Given the description of an element on the screen output the (x, y) to click on. 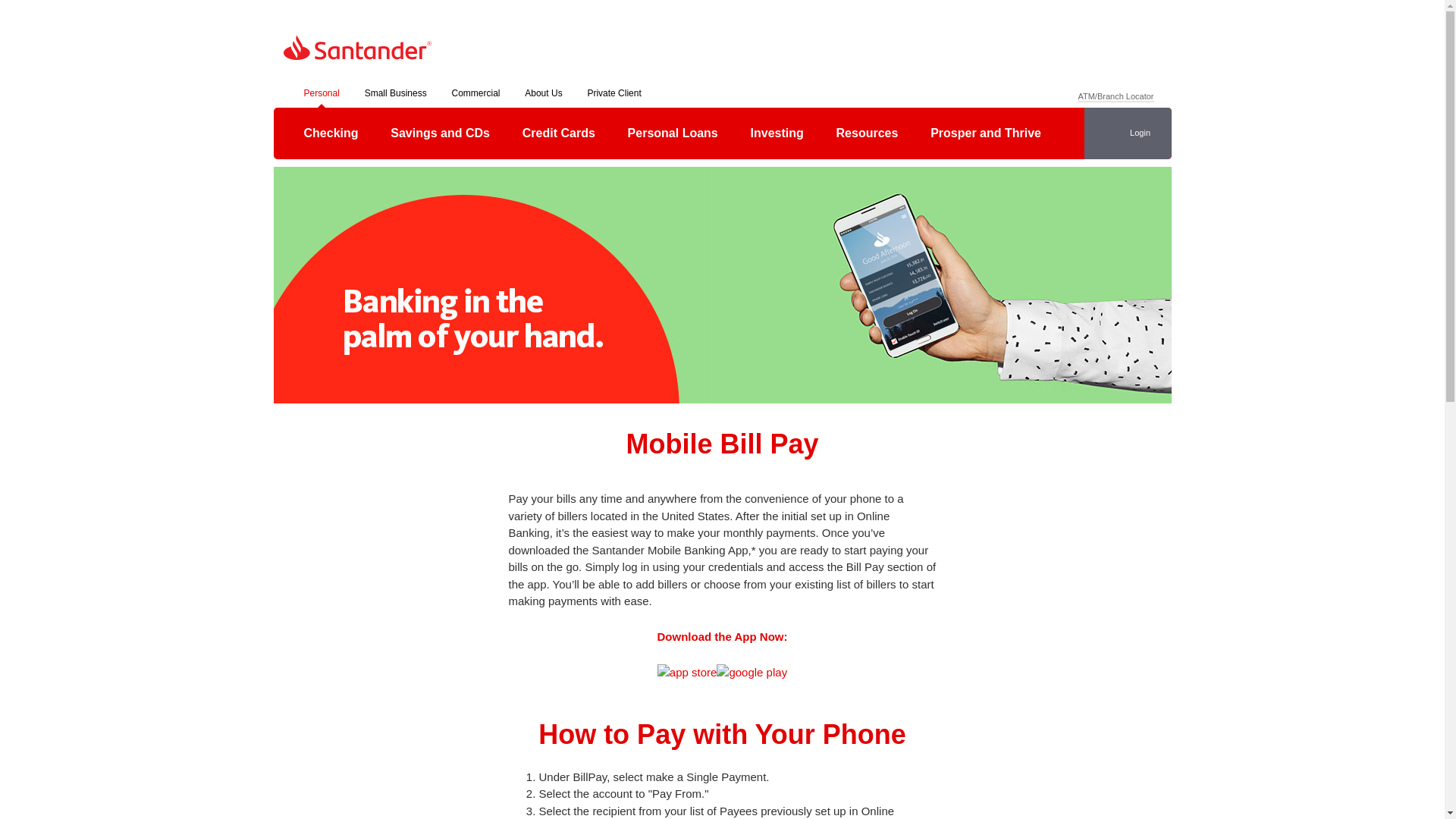
Private Client (613, 96)
Checking (330, 132)
Credit Cards (558, 132)
Personal Loans (672, 132)
Commercial (475, 96)
Savings and CDs (440, 132)
Prosper and Thrive (986, 132)
Investing (776, 132)
About Us (543, 96)
Personal (320, 96)
